Given the description of an element on the screen output the (x, y) to click on. 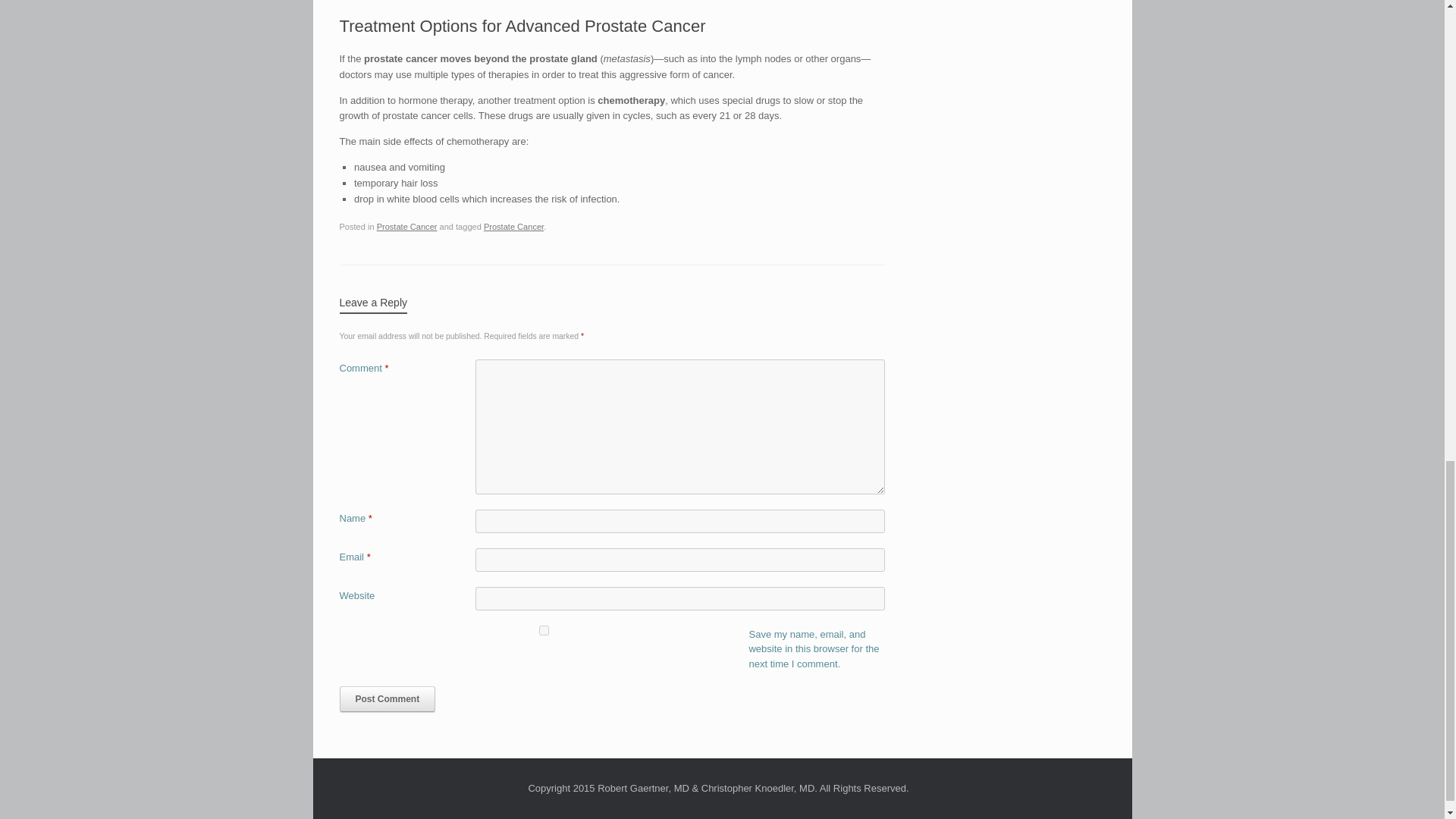
Prostate Cancer (407, 225)
Post Comment (387, 698)
Prostate Cancer (513, 225)
Post Comment (387, 698)
yes (544, 630)
